Given the description of an element on the screen output the (x, y) to click on. 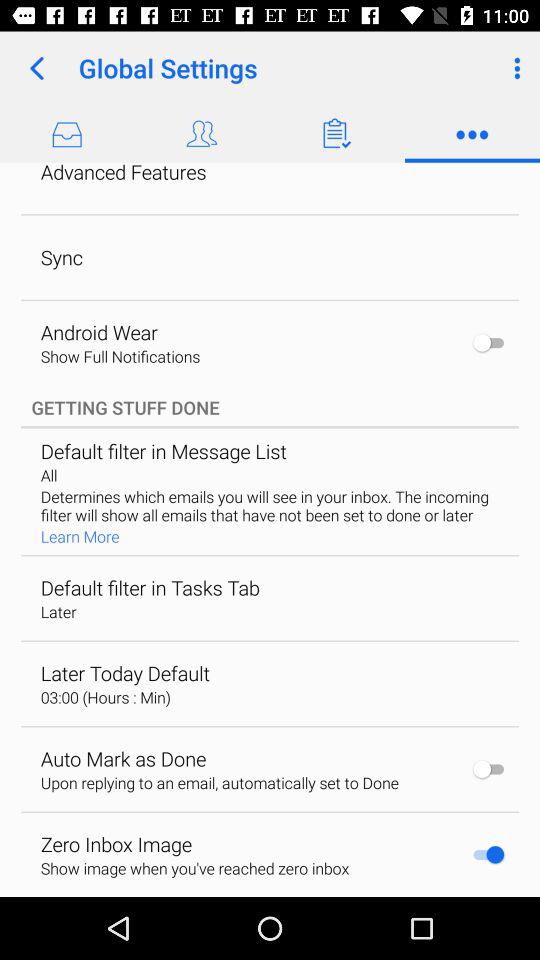
select item above upon replying to app (123, 758)
